Given the description of an element on the screen output the (x, y) to click on. 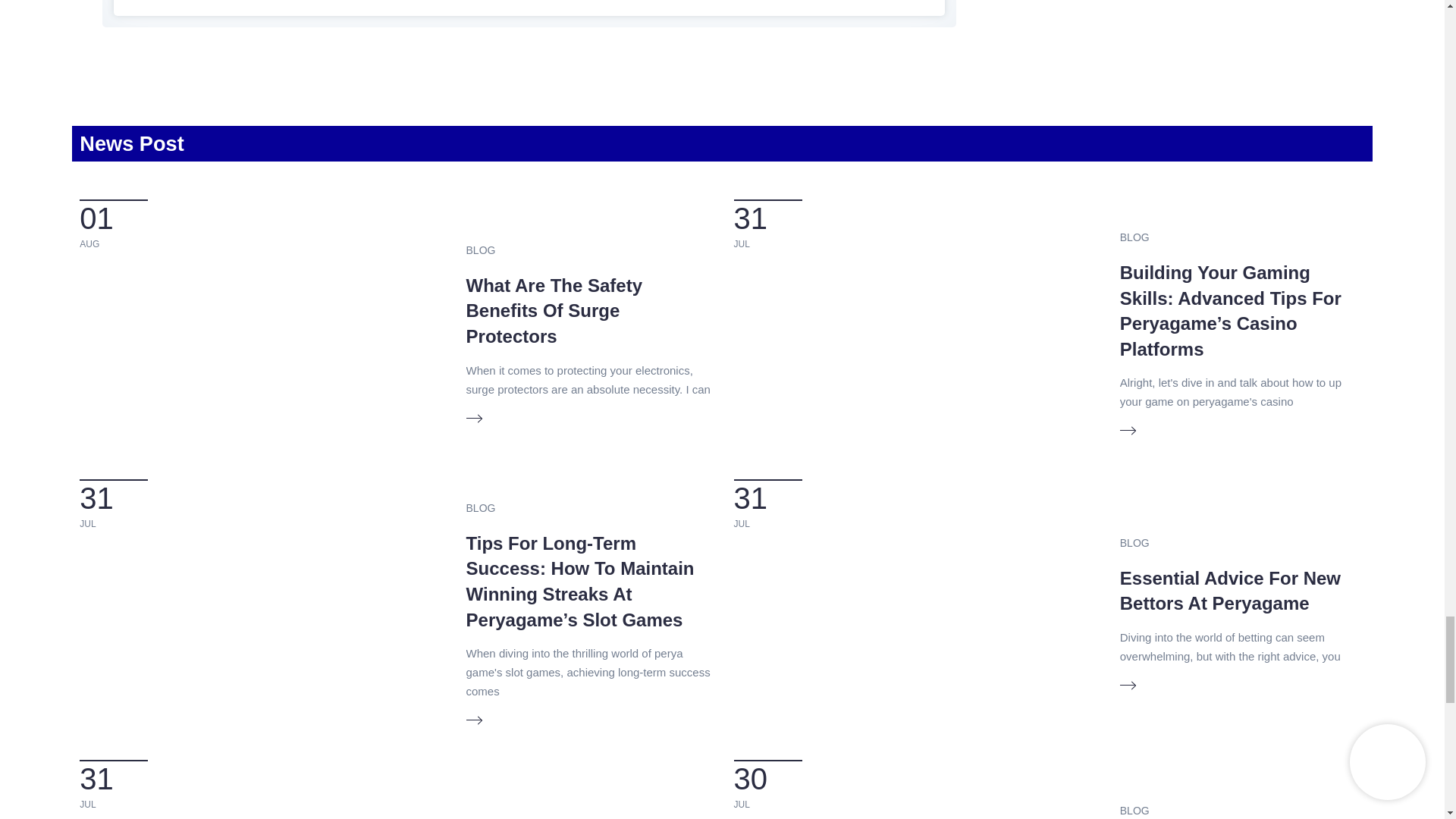
BLOG (480, 250)
BLOG (480, 508)
BLOG (1134, 810)
What Are the Safety Benefits of Surge Protectors (554, 310)
Essential Advice for New Bettors at peryagame (1229, 591)
BLOG (480, 817)
Essential Advice For New Bettors At Peryagame (1229, 591)
What Are The Safety Benefits Of Surge Protectors (554, 310)
BLOG (1134, 542)
BLOG (1134, 236)
